Given the description of an element on the screen output the (x, y) to click on. 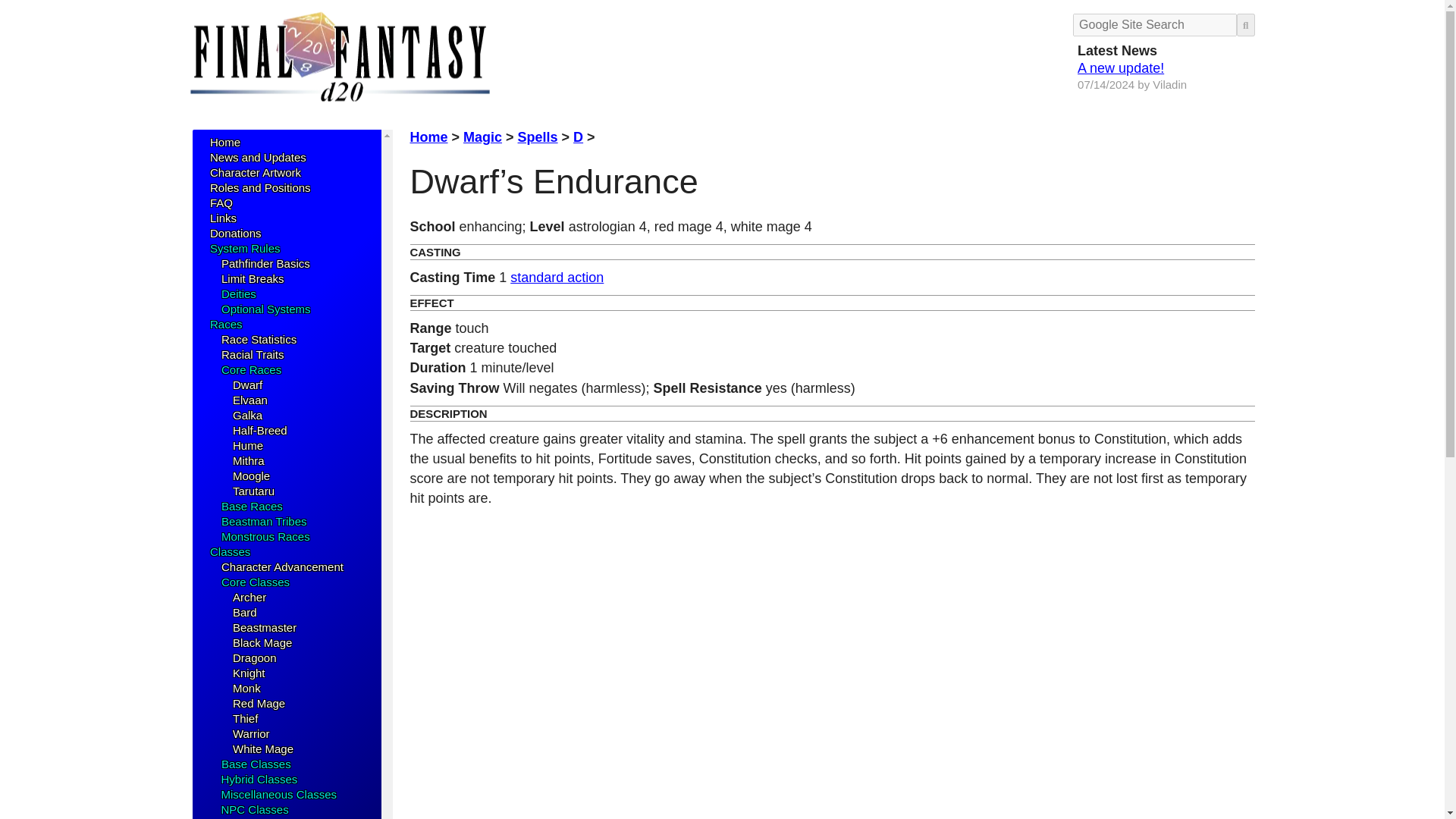
Links (222, 217)
FAQ (220, 202)
Roles and Positions (259, 187)
Pathfinder Basics (265, 263)
Donations (234, 232)
Home (224, 141)
Limit Breaks (252, 278)
Character Artwork (254, 172)
News and Updates (257, 156)
Deities (238, 293)
System Rules (244, 247)
A new update! (1120, 68)
